Given the description of an element on the screen output the (x, y) to click on. 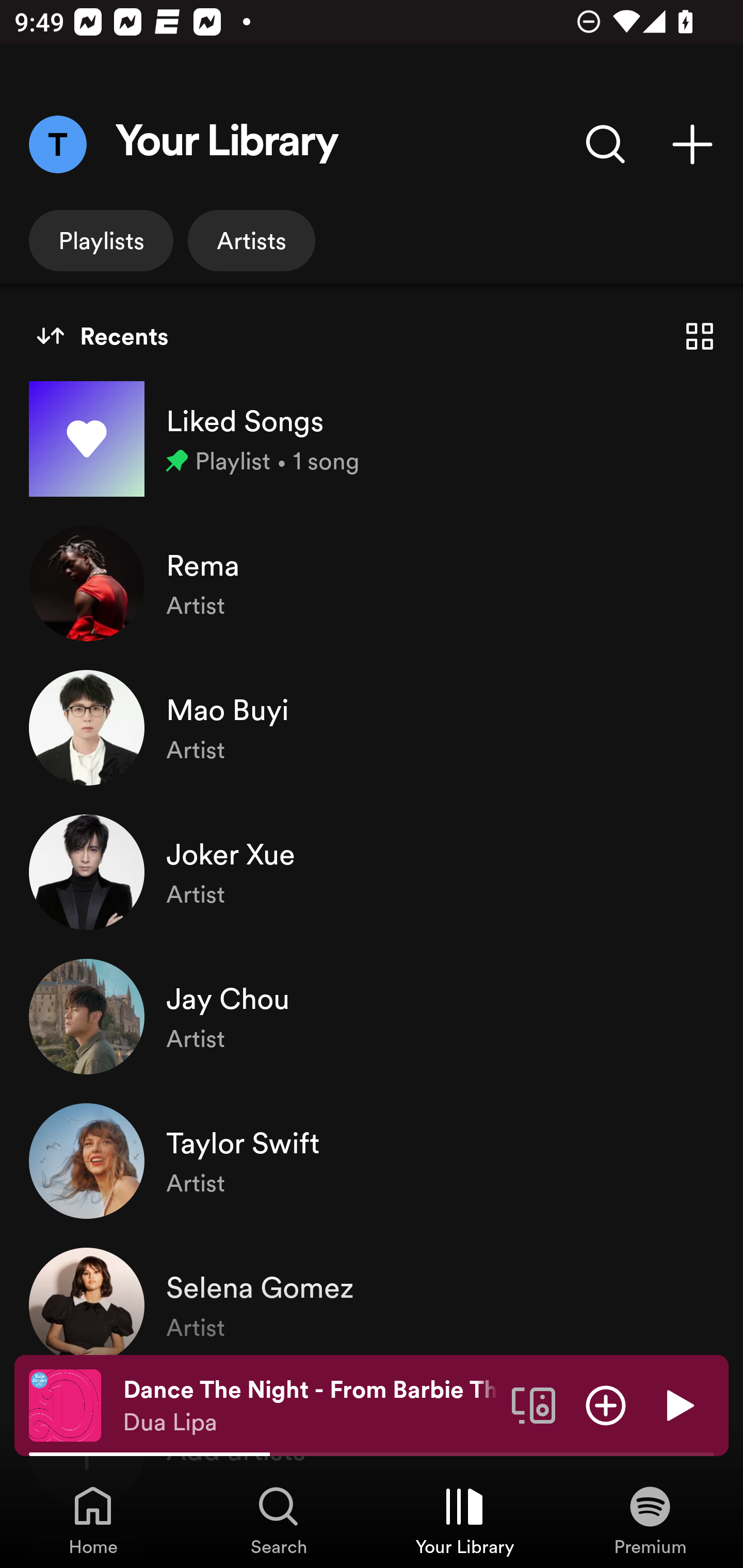
Menu (57, 144)
Search Your Library (605, 144)
Create playlist (692, 144)
Your Library Your Library Heading (226, 144)
Playlists, show only playlists. (100, 240)
Artists, show only artists. (251, 240)
Recents (101, 336)
Show Grid view (699, 336)
Rema, Artist,  Rema Artist (371, 583)
Mao Buyi, Artist,  Mao Buyi Artist (371, 727)
Joker Xue, Artist,  Joker Xue Artist (371, 871)
Jay Chou, Artist,  Jay Chou Artist (371, 1016)
Taylor Swift, Artist,  Taylor Swift Artist (371, 1160)
Selena Gomez, Artist,  Selena Gomez Artist (371, 1305)
Dance The Night - From Barbie The Album Dua Lipa (309, 1405)
The cover art of the currently playing track (64, 1404)
Connect to a device. Opens the devices menu (533, 1404)
Add item (605, 1404)
Play (677, 1404)
Home, Tab 1 of 4 Home Home (92, 1519)
Search, Tab 2 of 4 Search Search (278, 1519)
Your Library, Tab 3 of 4 Your Library Your Library (464, 1519)
Premium, Tab 4 of 4 Premium Premium (650, 1519)
